Given the description of an element on the screen output the (x, y) to click on. 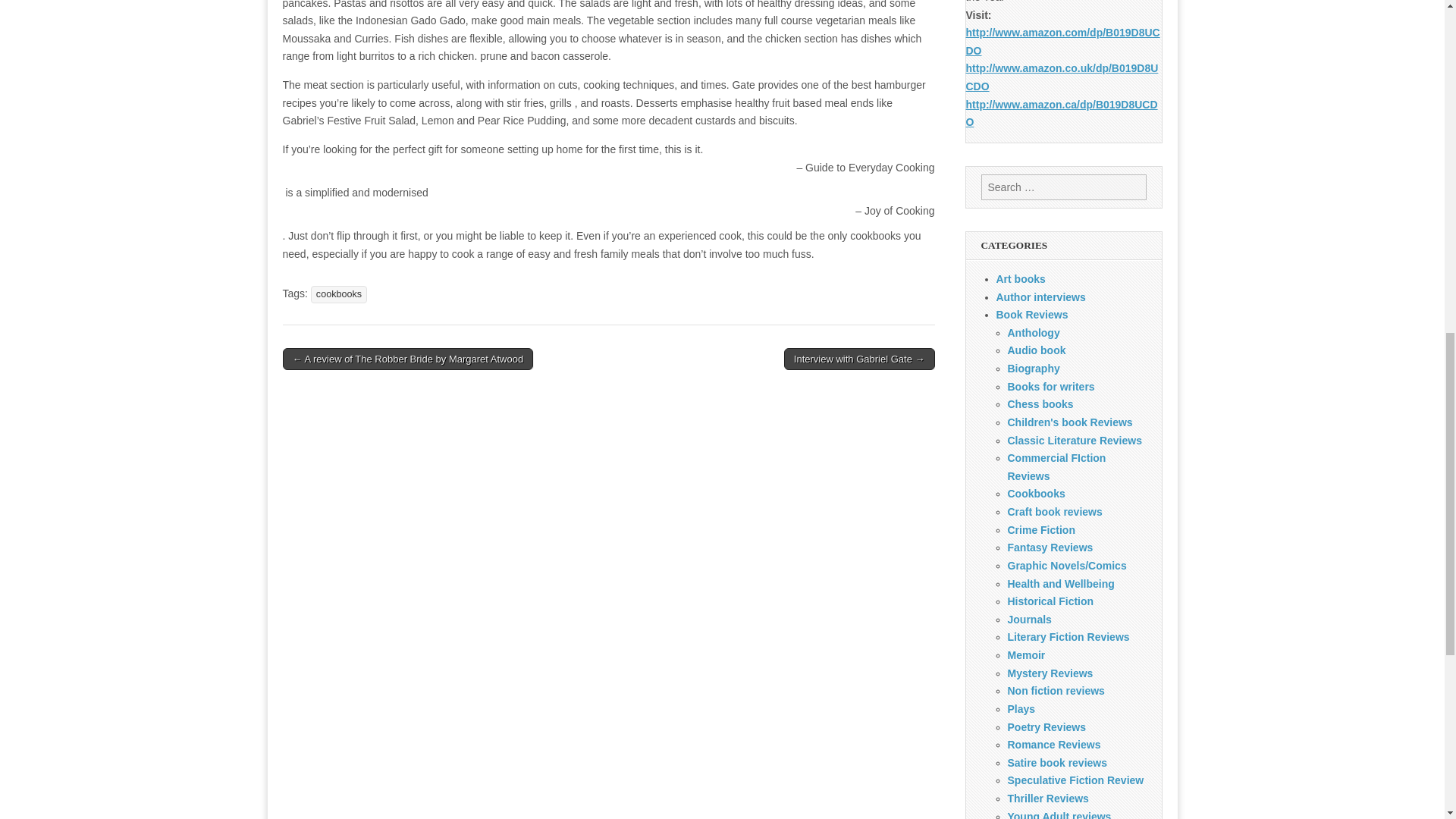
Fantasy Reviews (1050, 547)
Classic Literature Reviews (1074, 440)
Commercial FIction Reviews (1056, 467)
Crime Fiction (1040, 530)
Anthology (1033, 332)
Book Reviews (1031, 314)
cookbooks (338, 294)
Biography (1033, 368)
Author interviews (1040, 297)
Chess books (1040, 404)
